Given the description of an element on the screen output the (x, y) to click on. 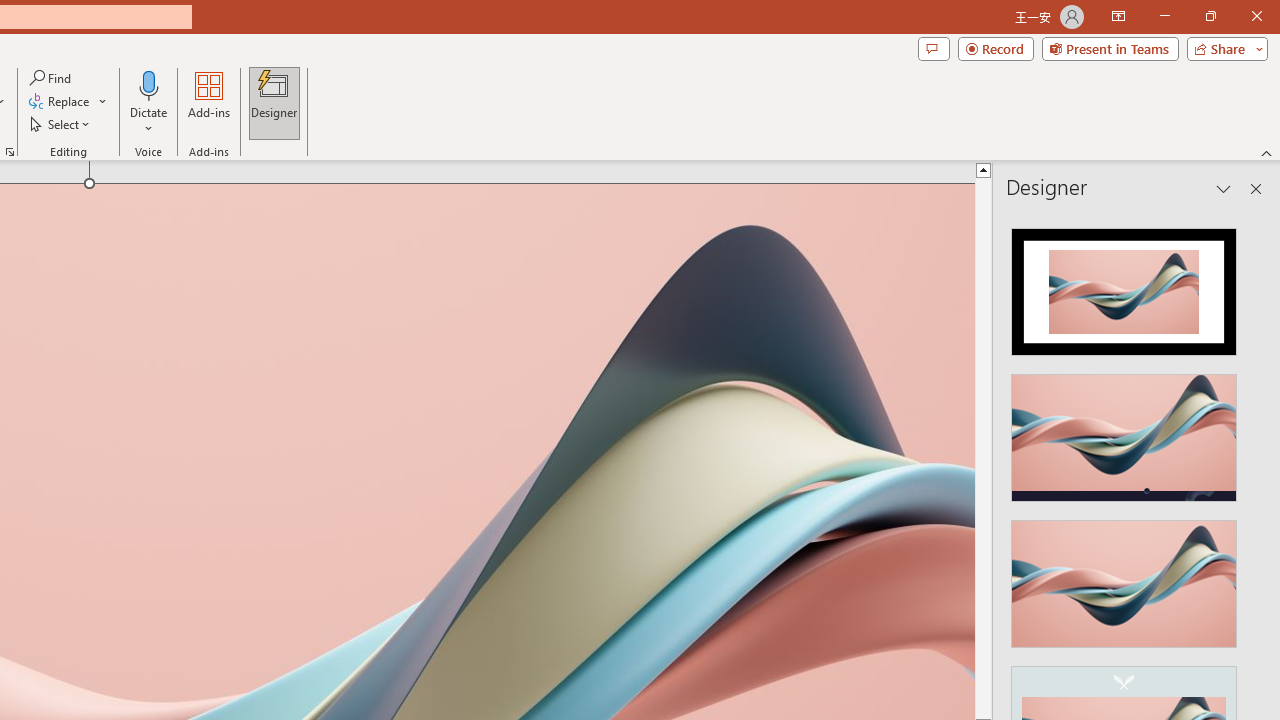
Recommended Design: Design Idea (1124, 286)
